Given the description of an element on the screen output the (x, y) to click on. 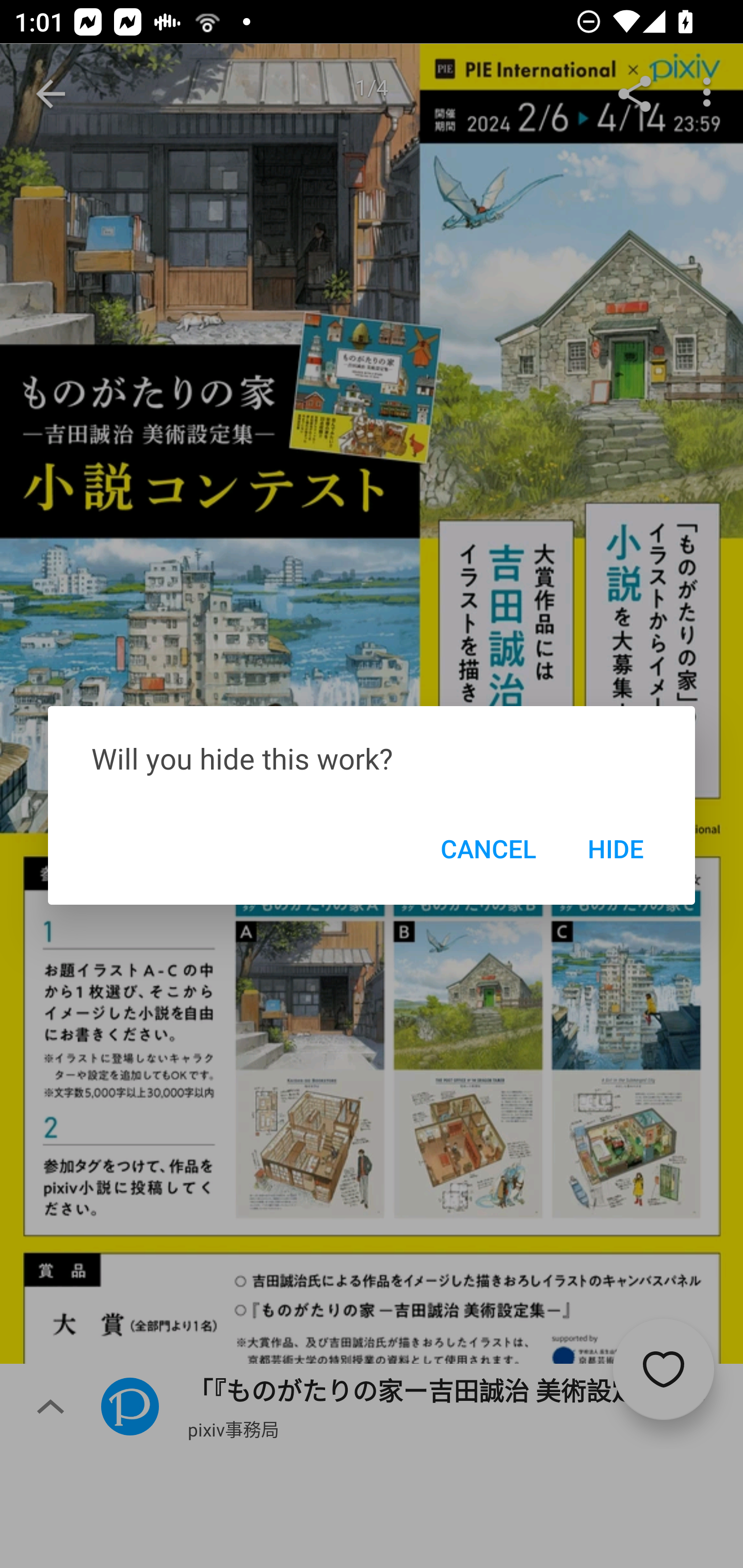
CANCEL (488, 847)
HIDE (615, 847)
